Given the description of an element on the screen output the (x, y) to click on. 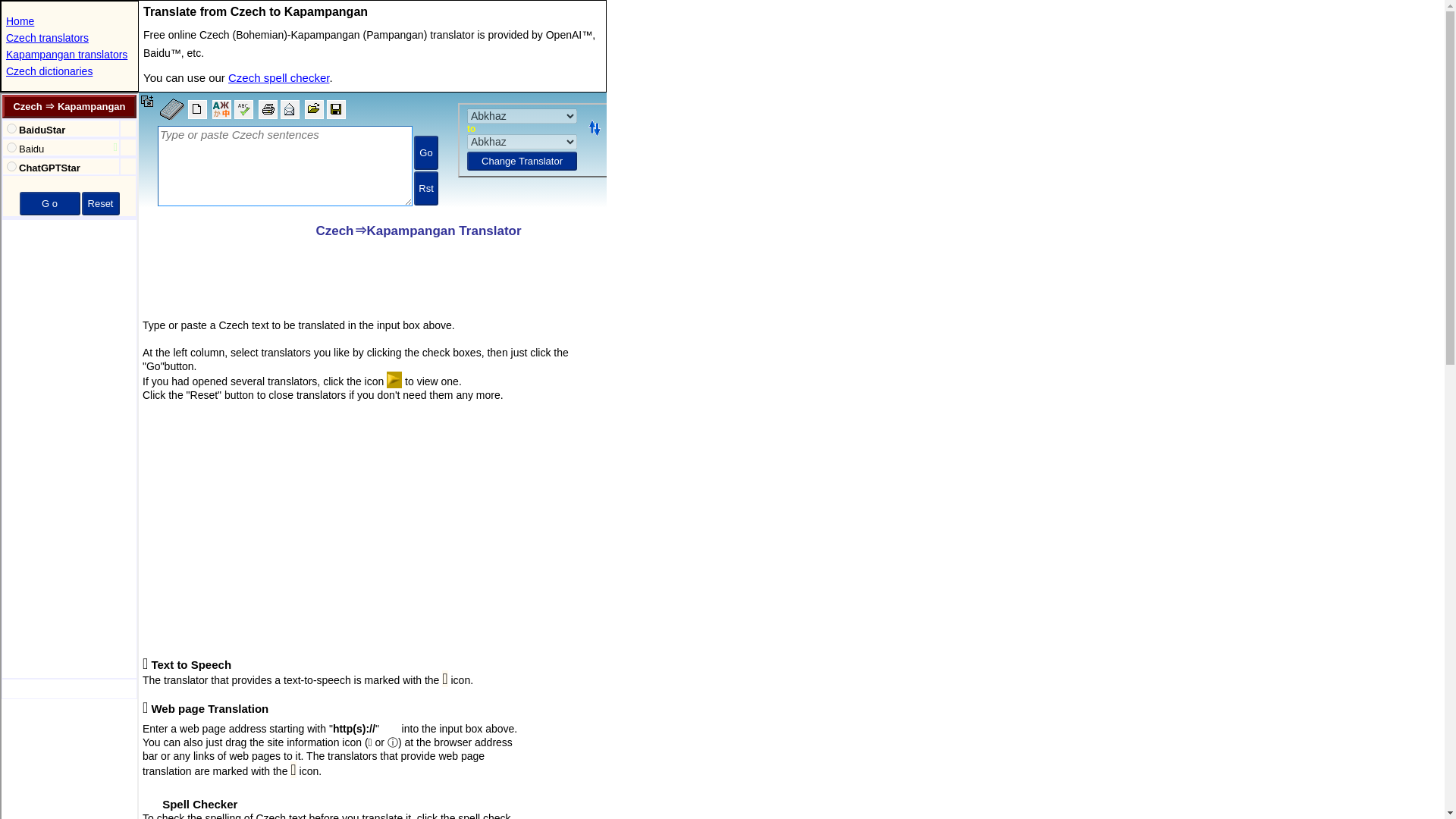
Online Czech dictionaries (49, 70)
Online Czech spell checker (278, 77)
Online Kapampangan translators (66, 54)
Czech dictionaries (49, 70)
Enter here a Czech text to translate (372, 152)
Czech spell checker (278, 77)
Online Czech translators (46, 37)
Home Page (19, 21)
Kapampangan translators (66, 54)
Home (19, 21)
Czech translators (46, 37)
